Given the description of an element on the screen output the (x, y) to click on. 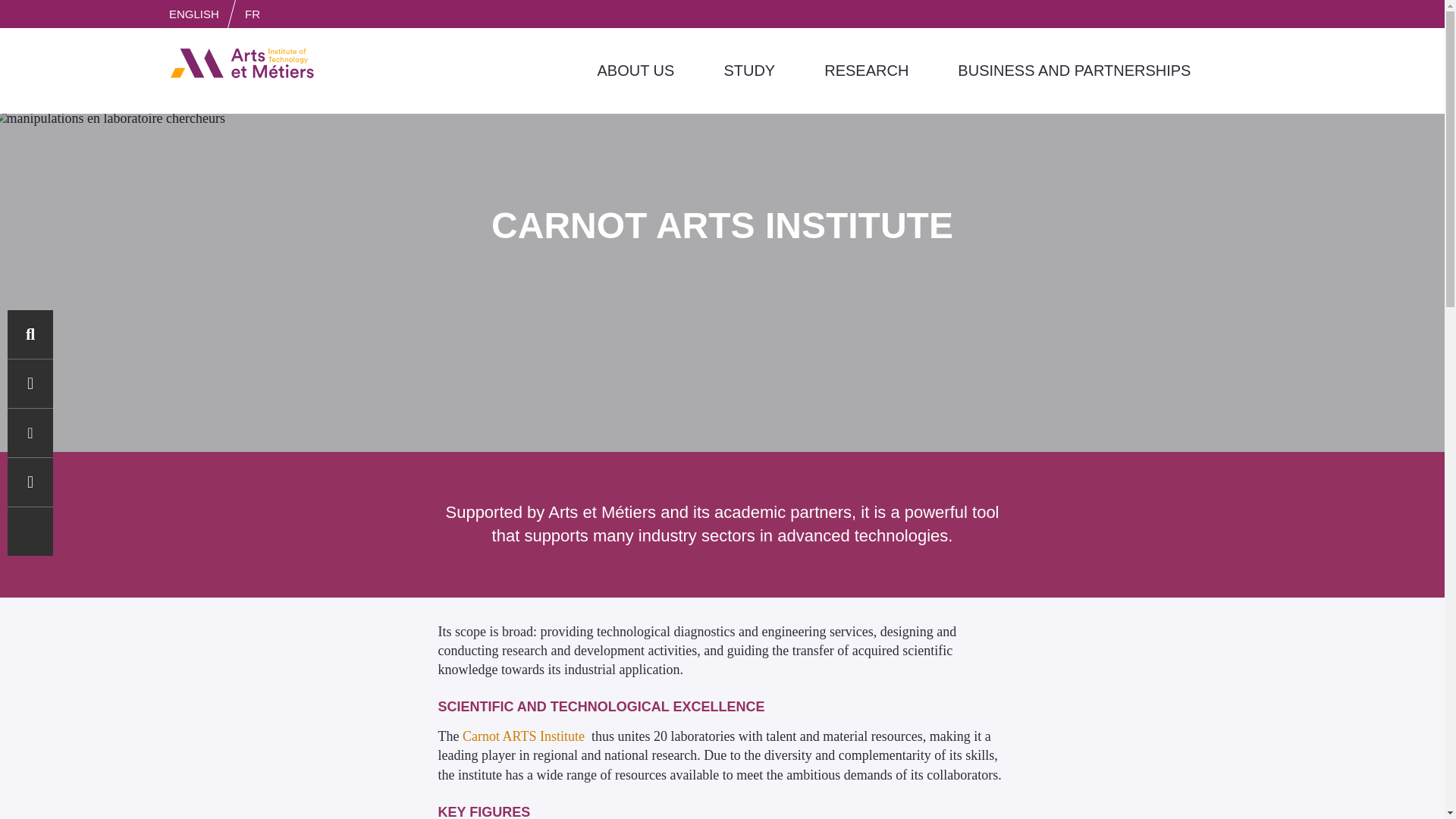
FR (252, 13)
ENGLISH (193, 13)
Home (241, 61)
ABOUT US (635, 70)
STUDY (748, 70)
